Given the description of an element on the screen output the (x, y) to click on. 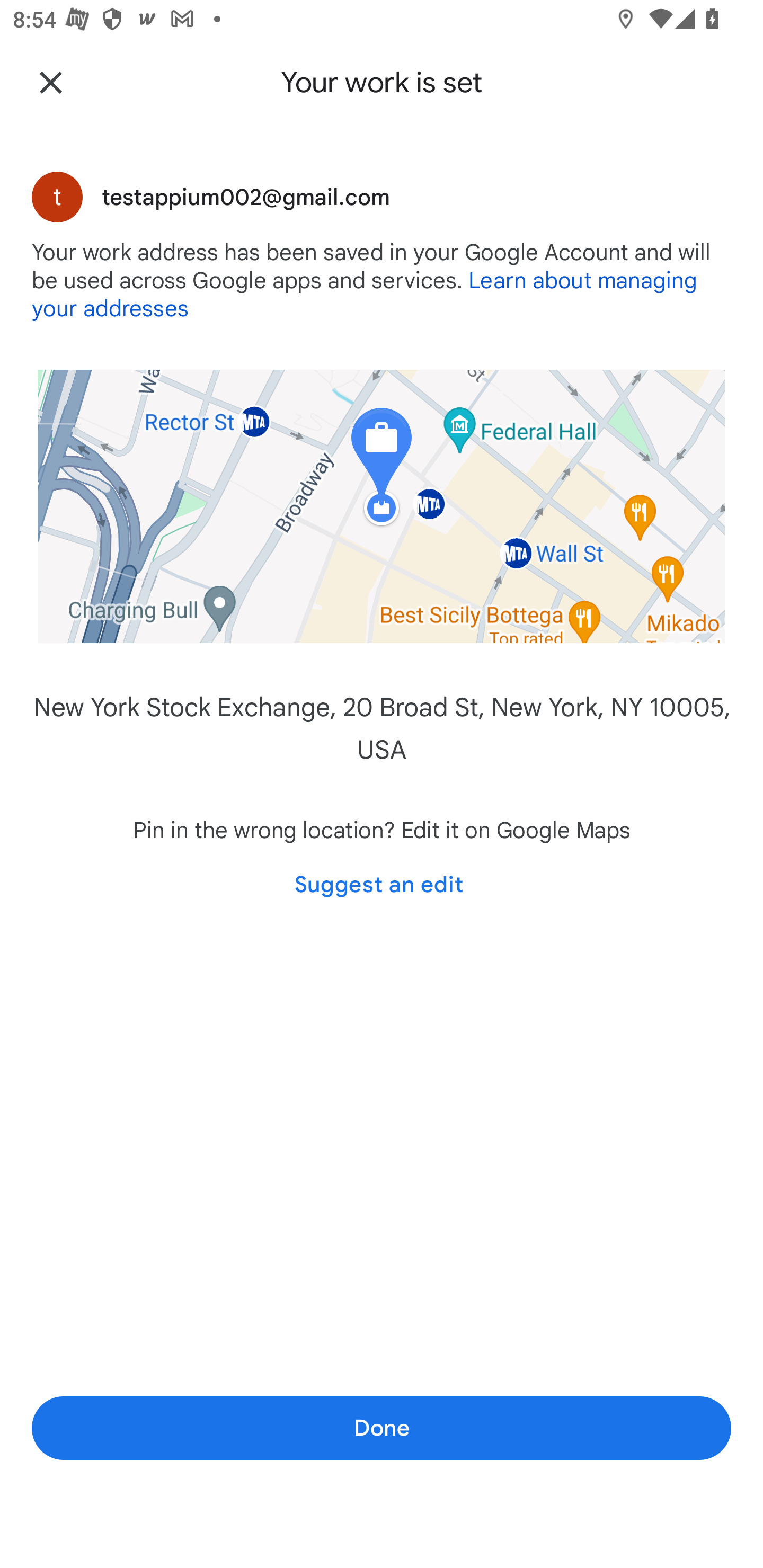
Close (50, 81)
Suggest an edit (378, 884)
Done Done Done (381, 1427)
